Given the description of an element on the screen output the (x, y) to click on. 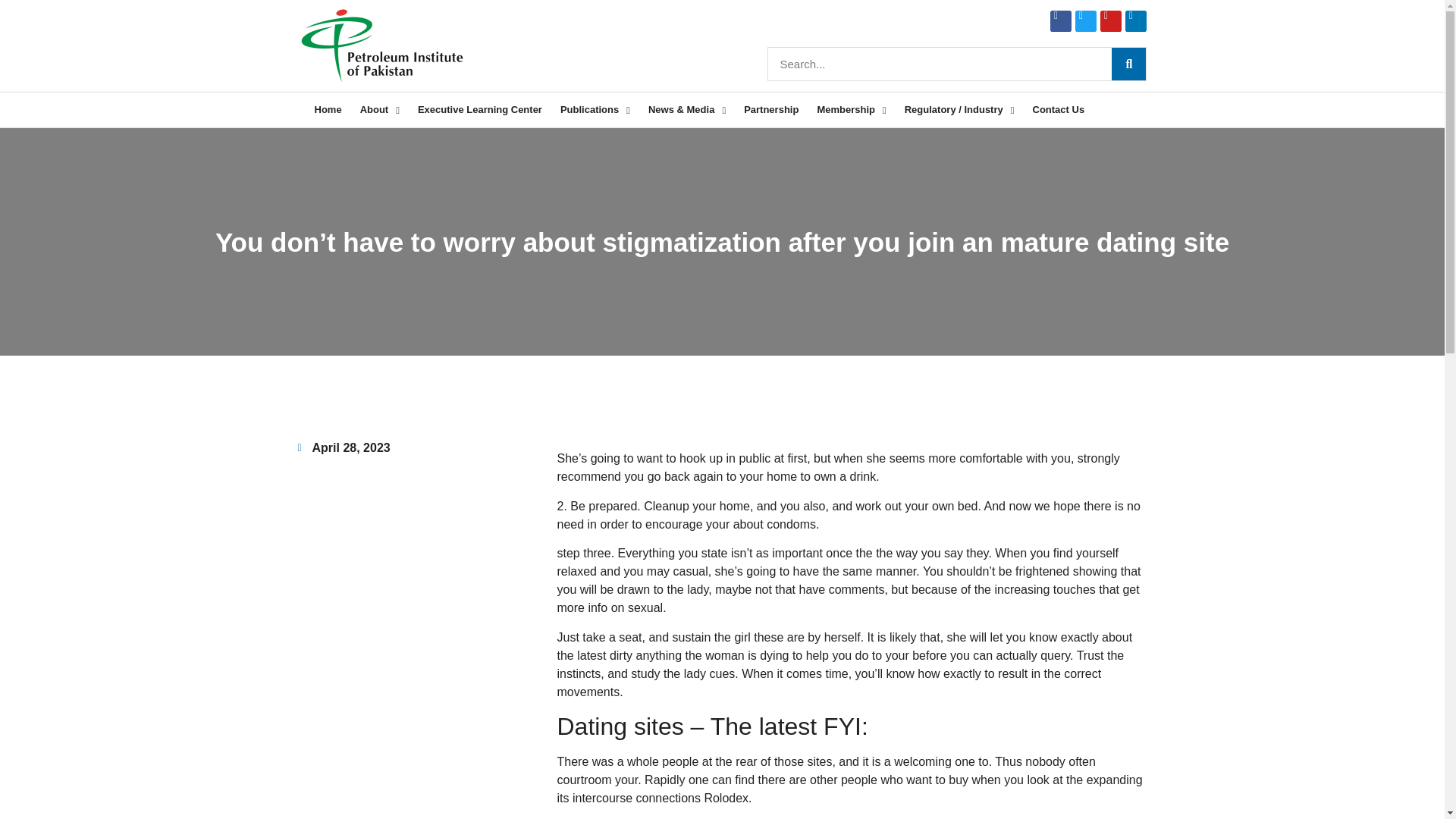
Executive Learning Center (480, 109)
Home (327, 109)
Publications (595, 109)
Membership (851, 109)
About (379, 109)
Search (940, 63)
Partnership (771, 109)
Search (1128, 63)
logo (380, 45)
